Given the description of an element on the screen output the (x, y) to click on. 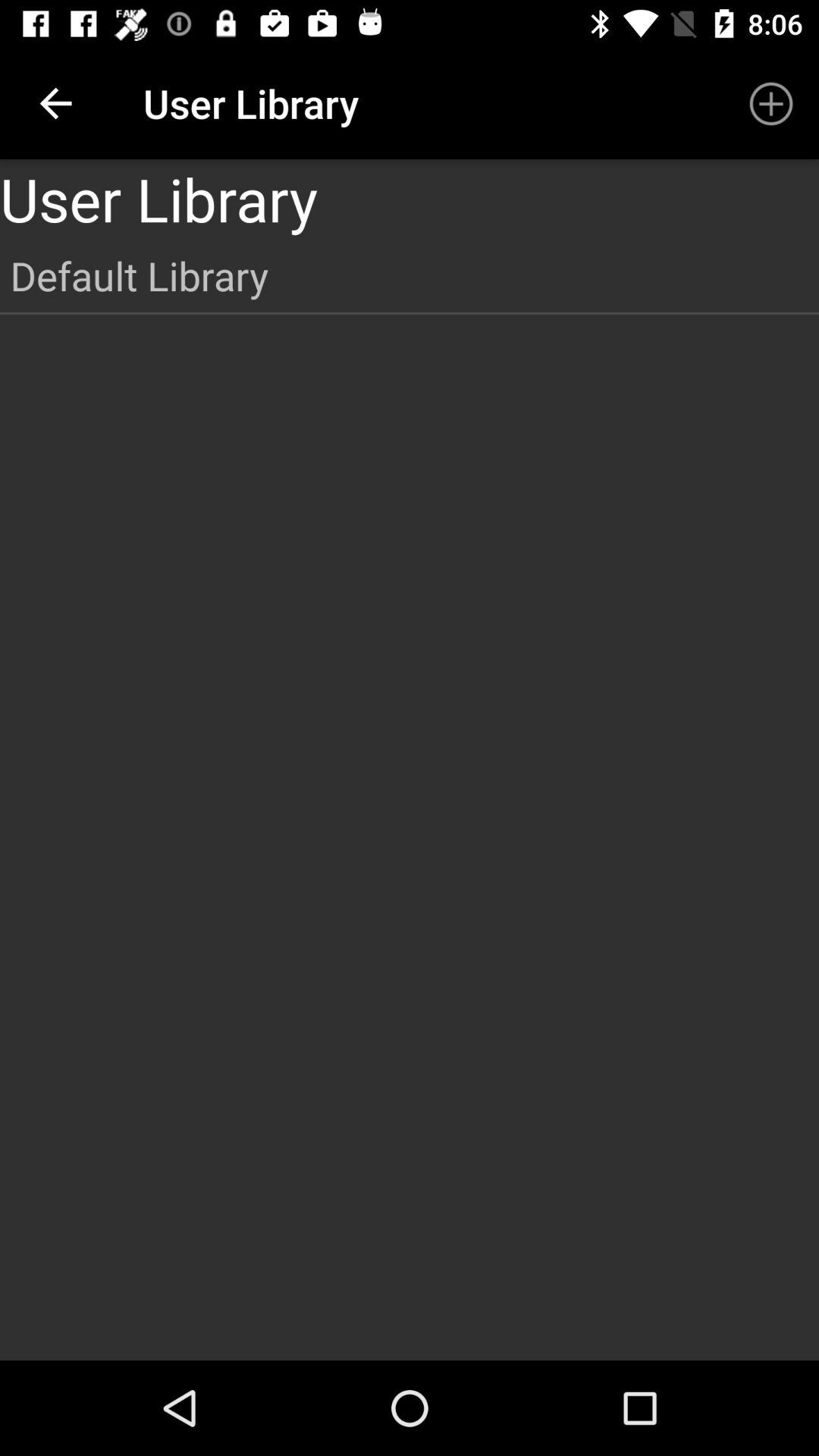
launch the app next to user library icon (771, 103)
